Given the description of an element on the screen output the (x, y) to click on. 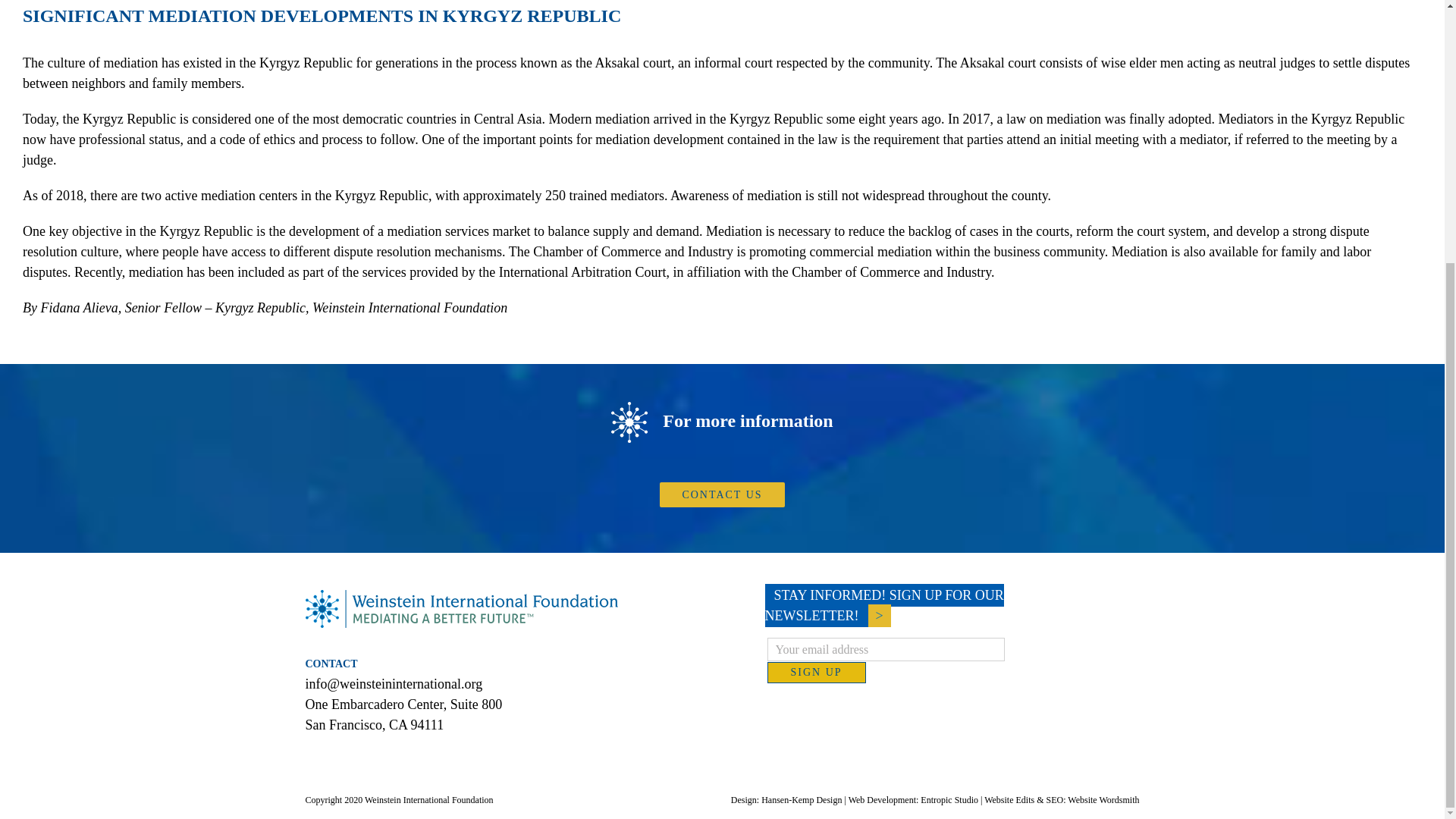
Sign up (816, 672)
